Given the description of an element on the screen output the (x, y) to click on. 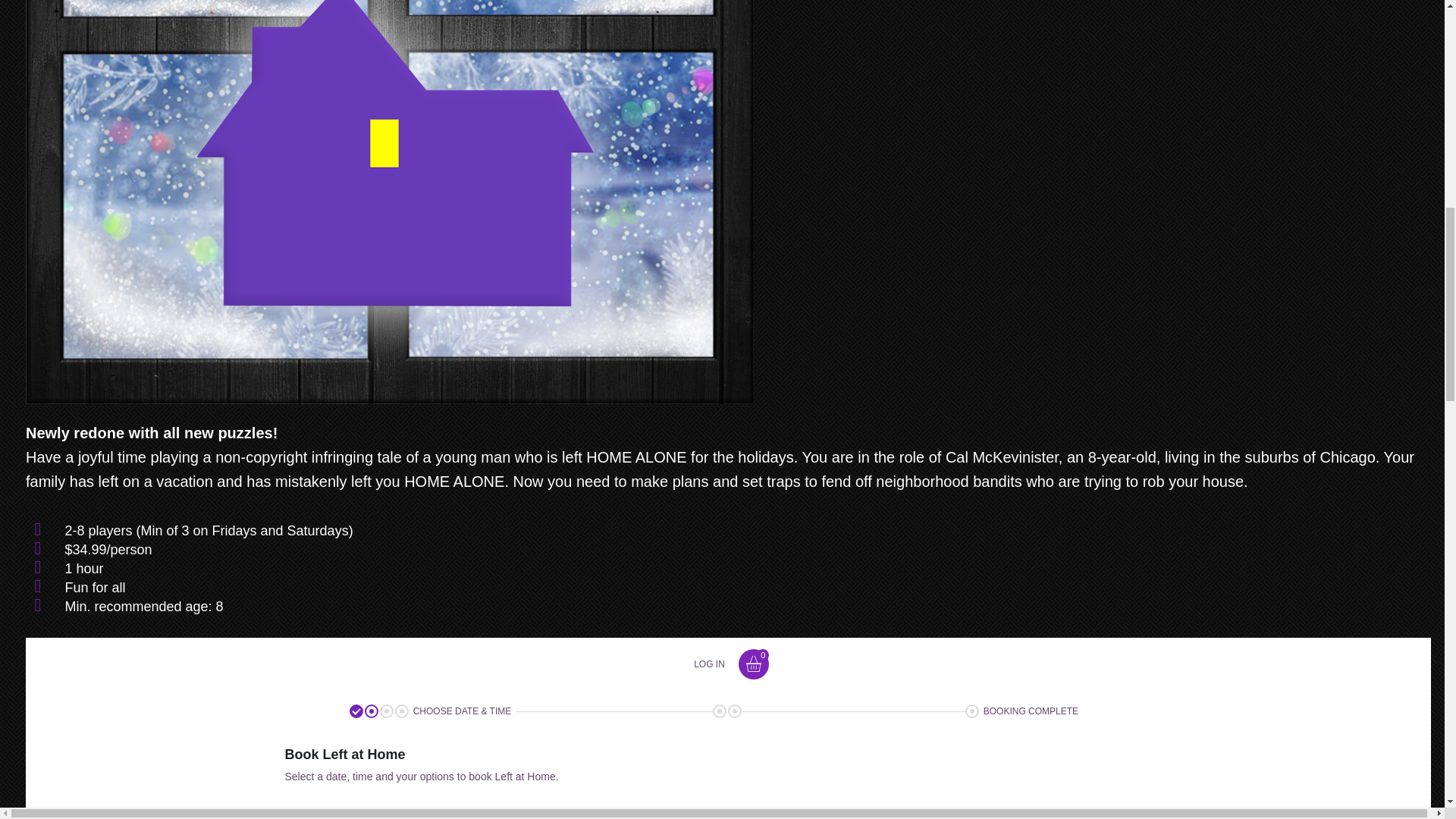
FareHarbor (1342, 53)
